Given the description of an element on the screen output the (x, y) to click on. 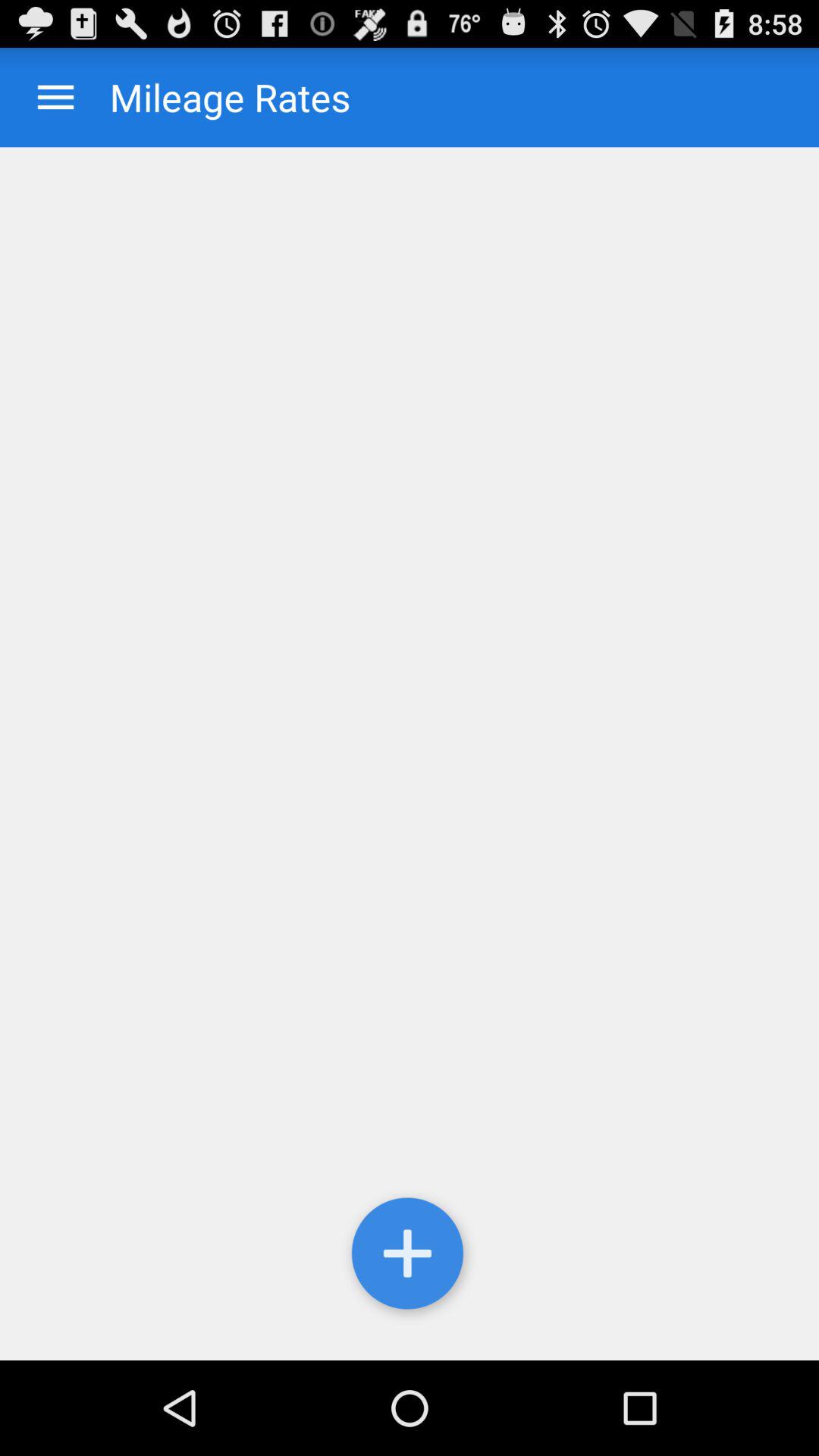
apps (55, 97)
